Given the description of an element on the screen output the (x, y) to click on. 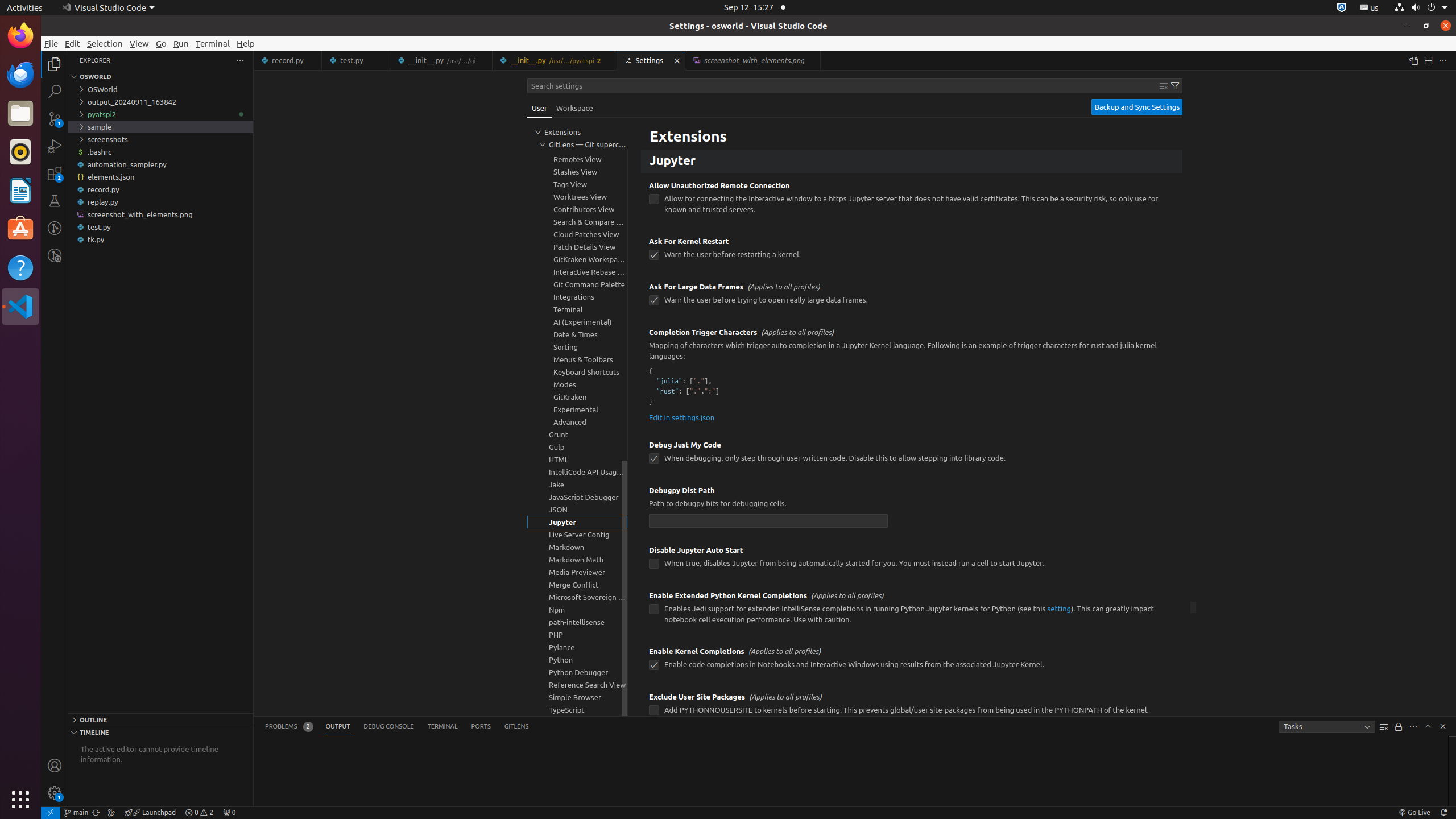
Timeline Section Element type: push-button (160, 731)
Hide Panel Element type: push-button (1442, 726)
Terminal, group Element type: tree-item (577, 309)
OSWorld (Git) - main, Checkout Branch/Tag... Element type: push-button (75, 812)
